Given the description of an element on the screen output the (x, y) to click on. 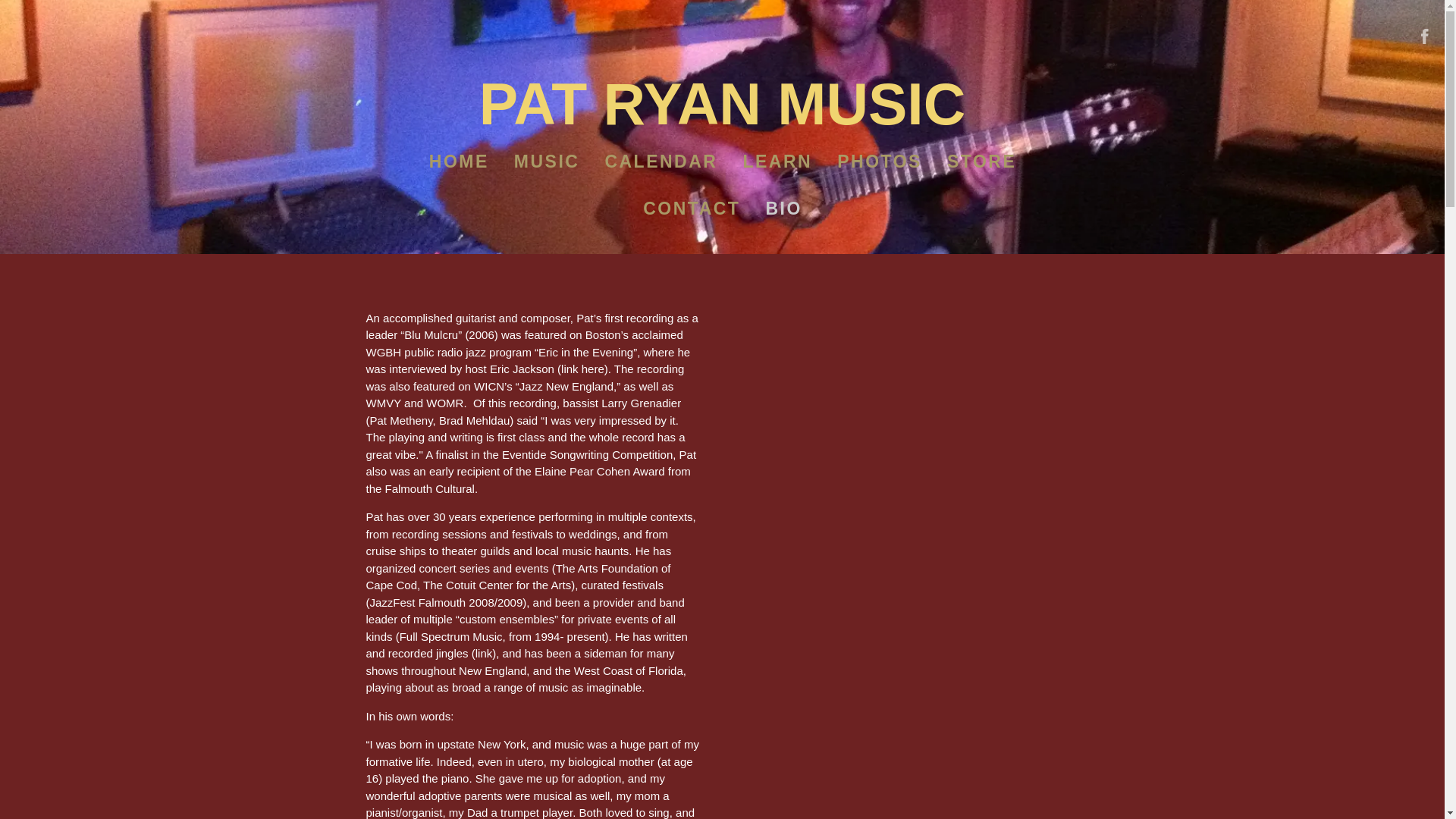
BIO (782, 208)
STORE (981, 161)
LEARN (777, 161)
HOME (458, 161)
CALENDAR (660, 161)
CONTACT (690, 208)
MUSIC (546, 161)
PHOTOS (879, 161)
PAT RYAN MUSIC (722, 117)
